Given the description of an element on the screen output the (x, y) to click on. 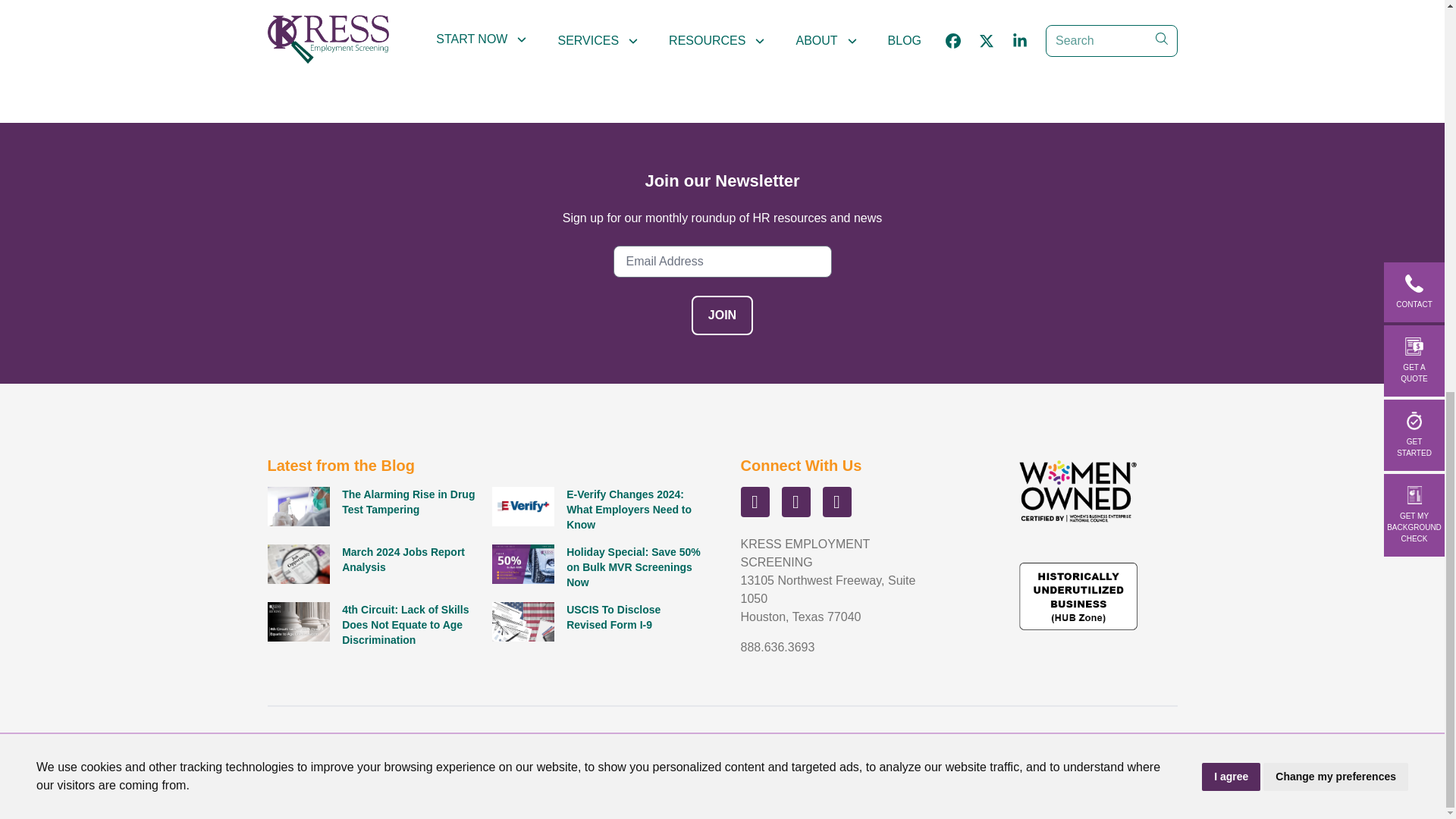
Change my preferences (1335, 27)
I agree (1231, 27)
